Given the description of an element on the screen output the (x, y) to click on. 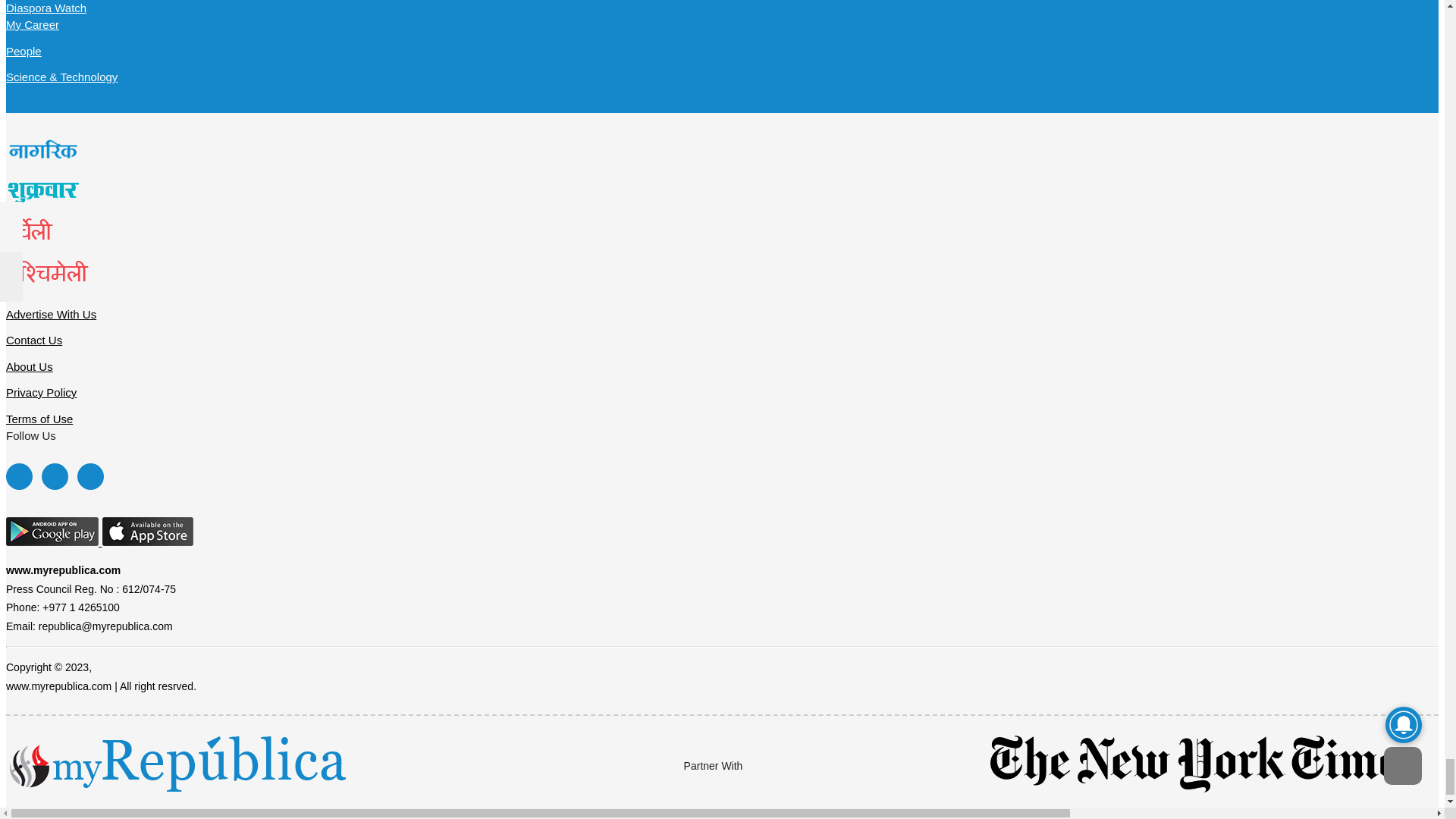
Youtube (90, 476)
Facebook (18, 476)
Twitter (55, 476)
